Given the description of an element on the screen output the (x, y) to click on. 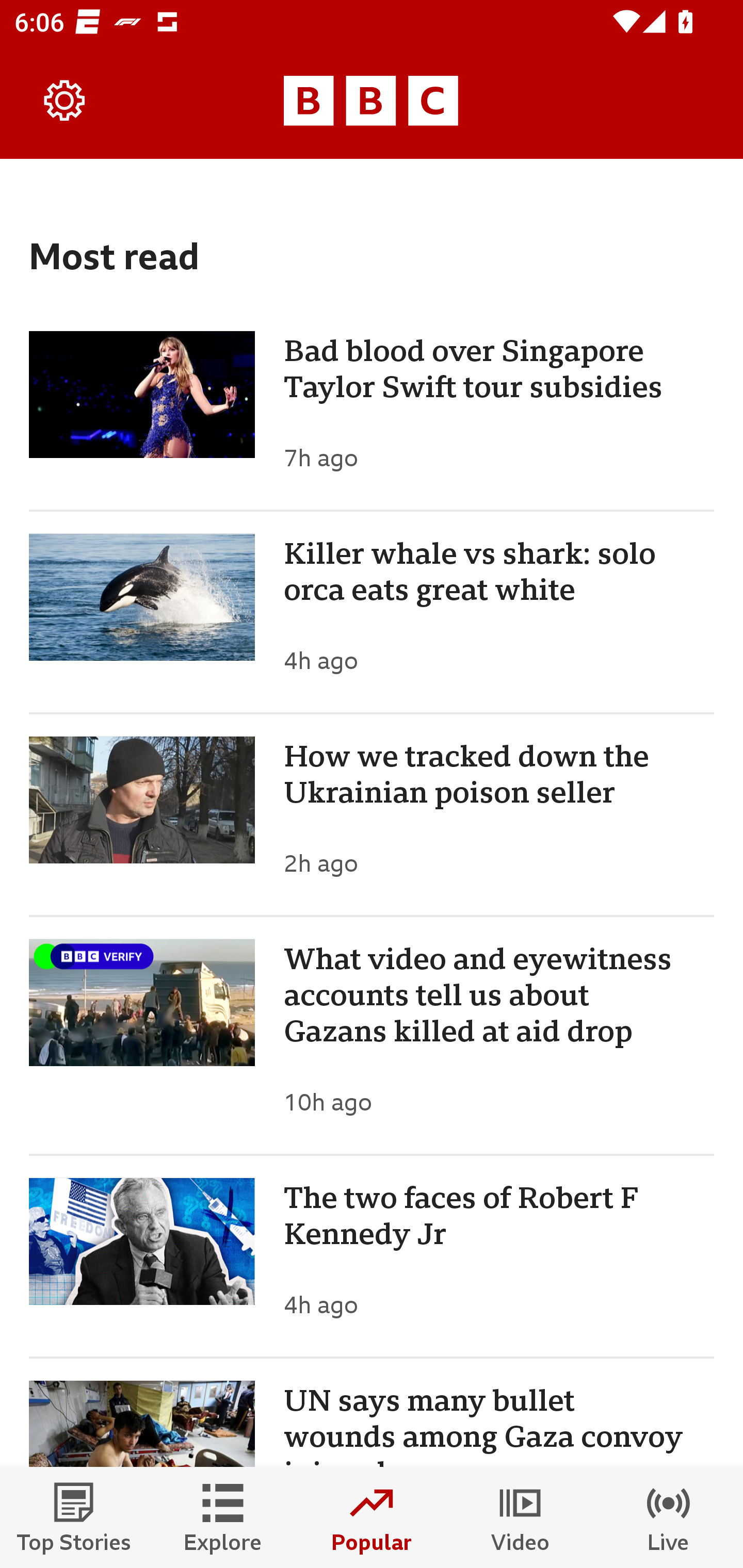
Settings (64, 100)
Top Stories (74, 1517)
Explore (222, 1517)
Video (519, 1517)
Live (668, 1517)
